Given the description of an element on the screen output the (x, y) to click on. 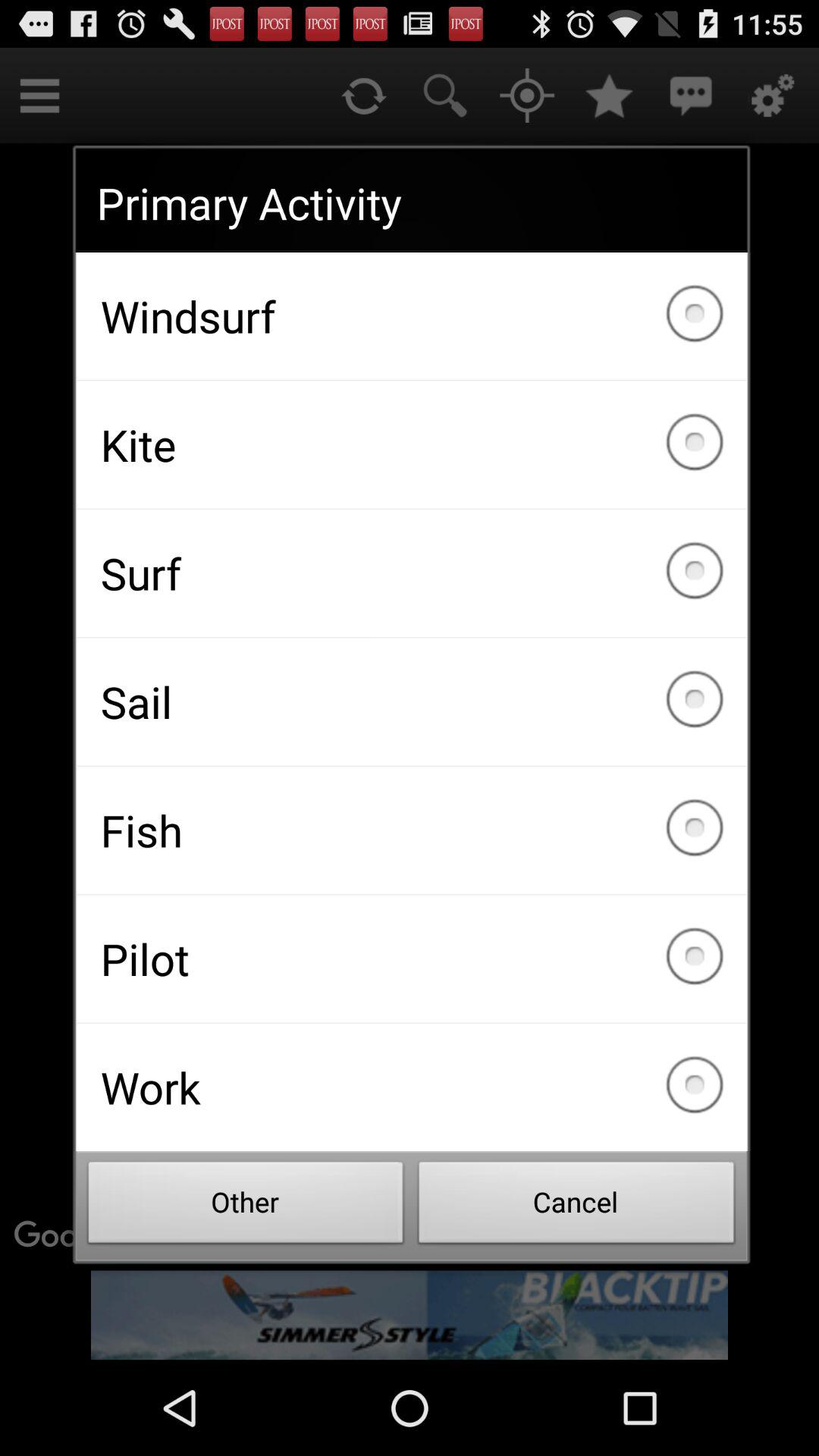
launch other button (245, 1206)
